Given the description of an element on the screen output the (x, y) to click on. 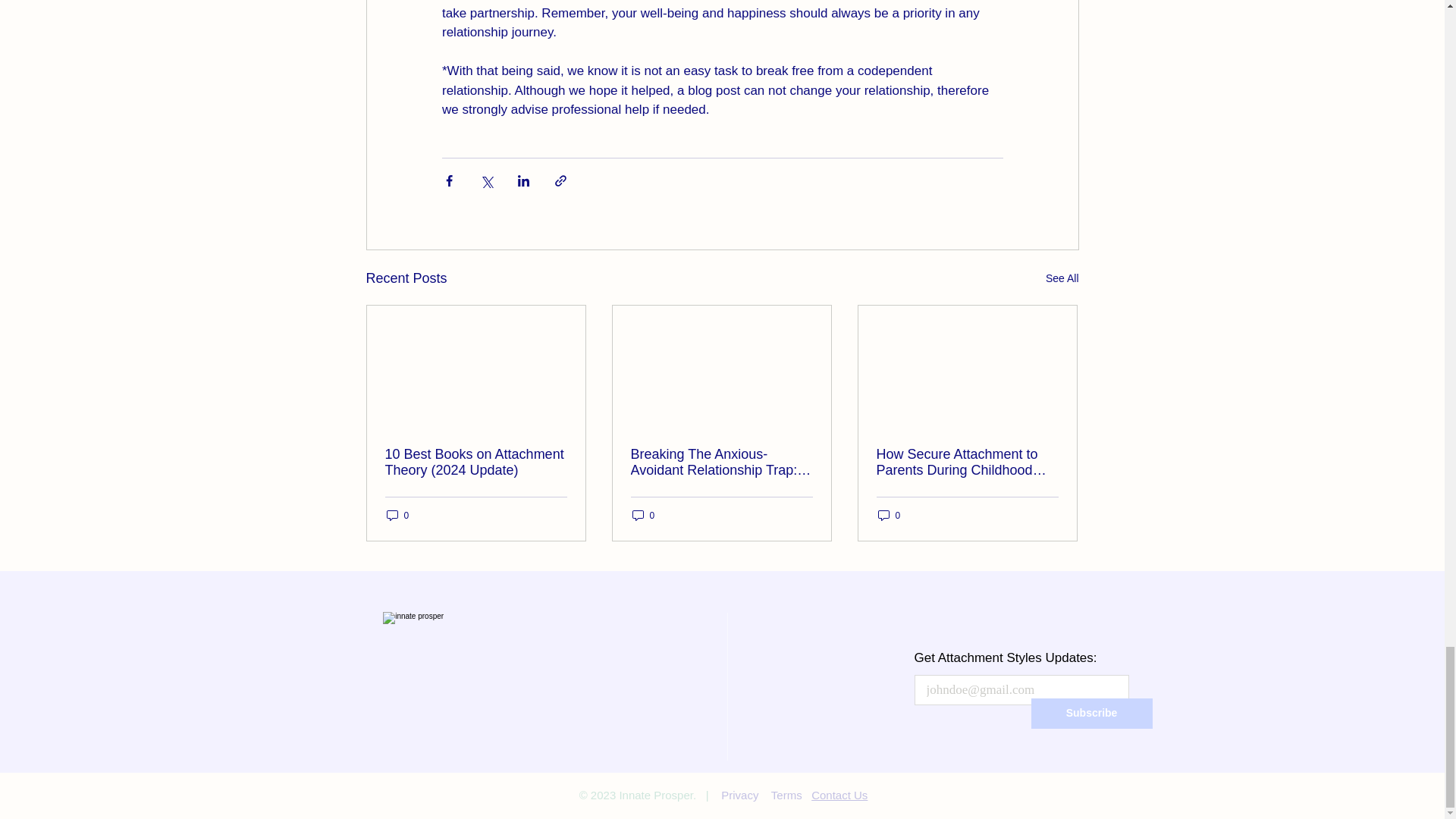
0 (643, 514)
Privacy (739, 794)
0 (397, 514)
See All (1061, 278)
Contact Us (838, 794)
0 (889, 514)
Terms (786, 794)
Subscribe (1091, 713)
